Given the description of an element on the screen output the (x, y) to click on. 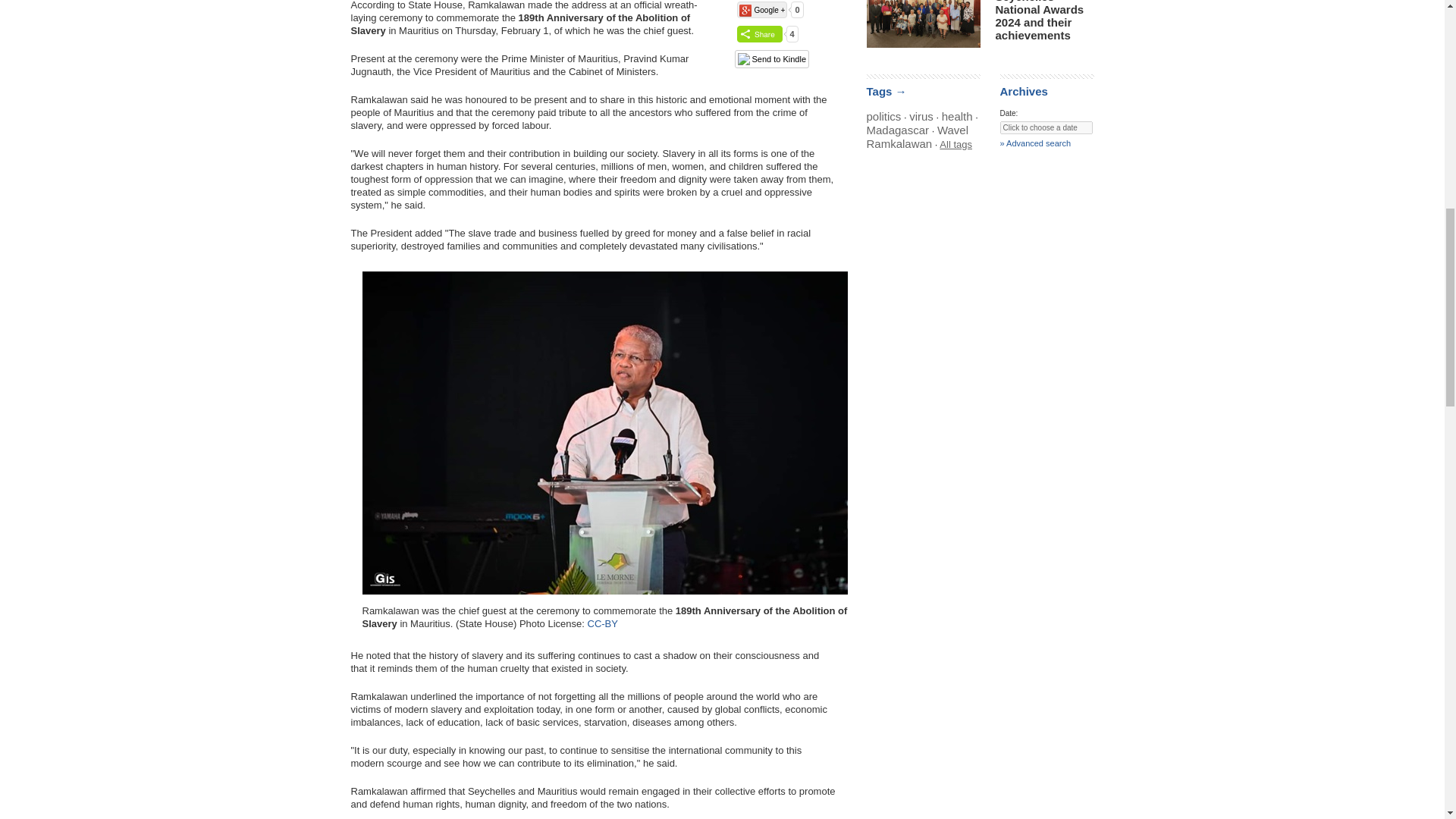
CC-BY (601, 623)
Click to choose a date (1045, 127)
